Given the description of an element on the screen output the (x, y) to click on. 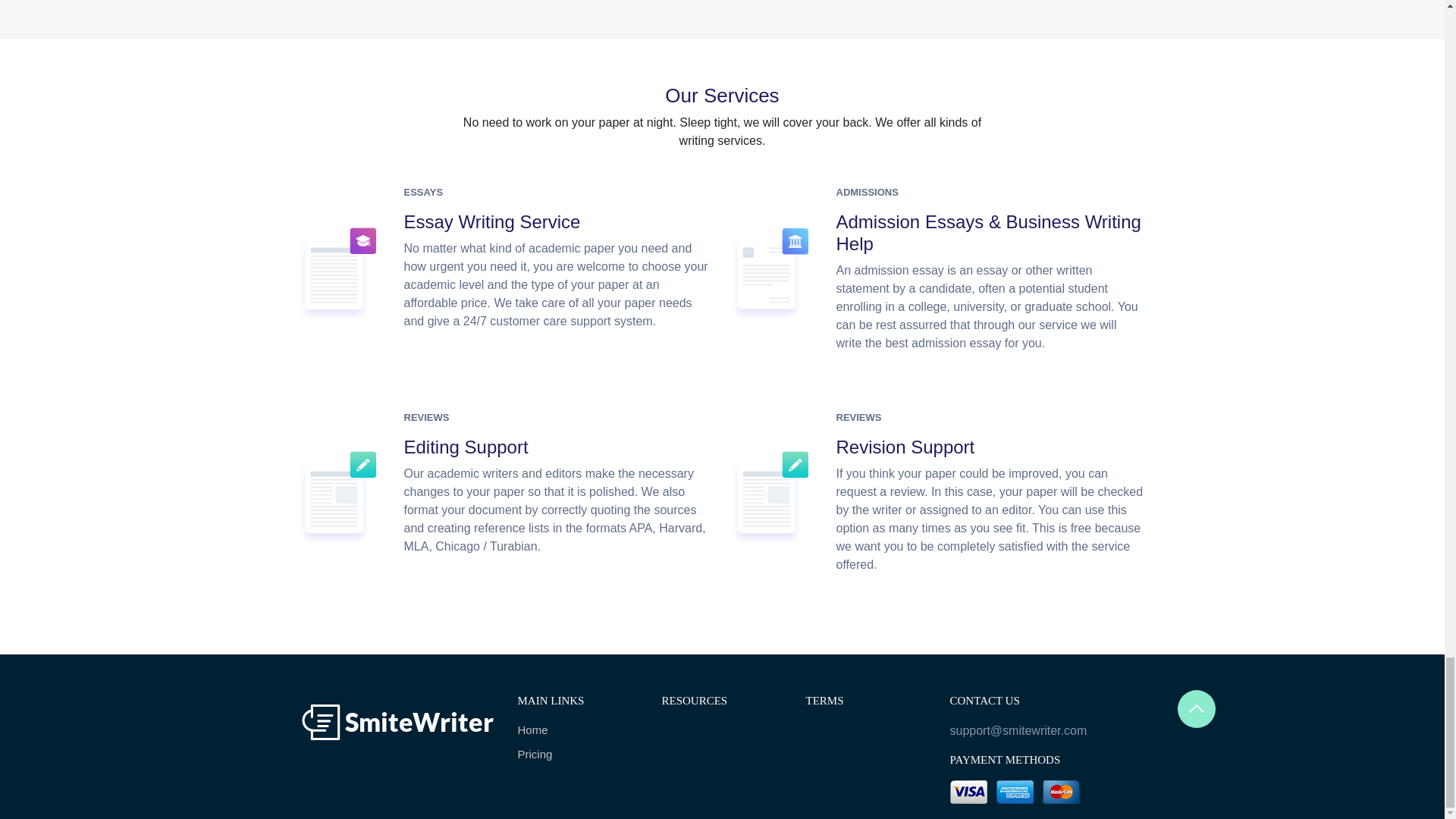
Home (577, 730)
Pricing (577, 754)
Home (577, 730)
Pricing (577, 754)
